Given the description of an element on the screen output the (x, y) to click on. 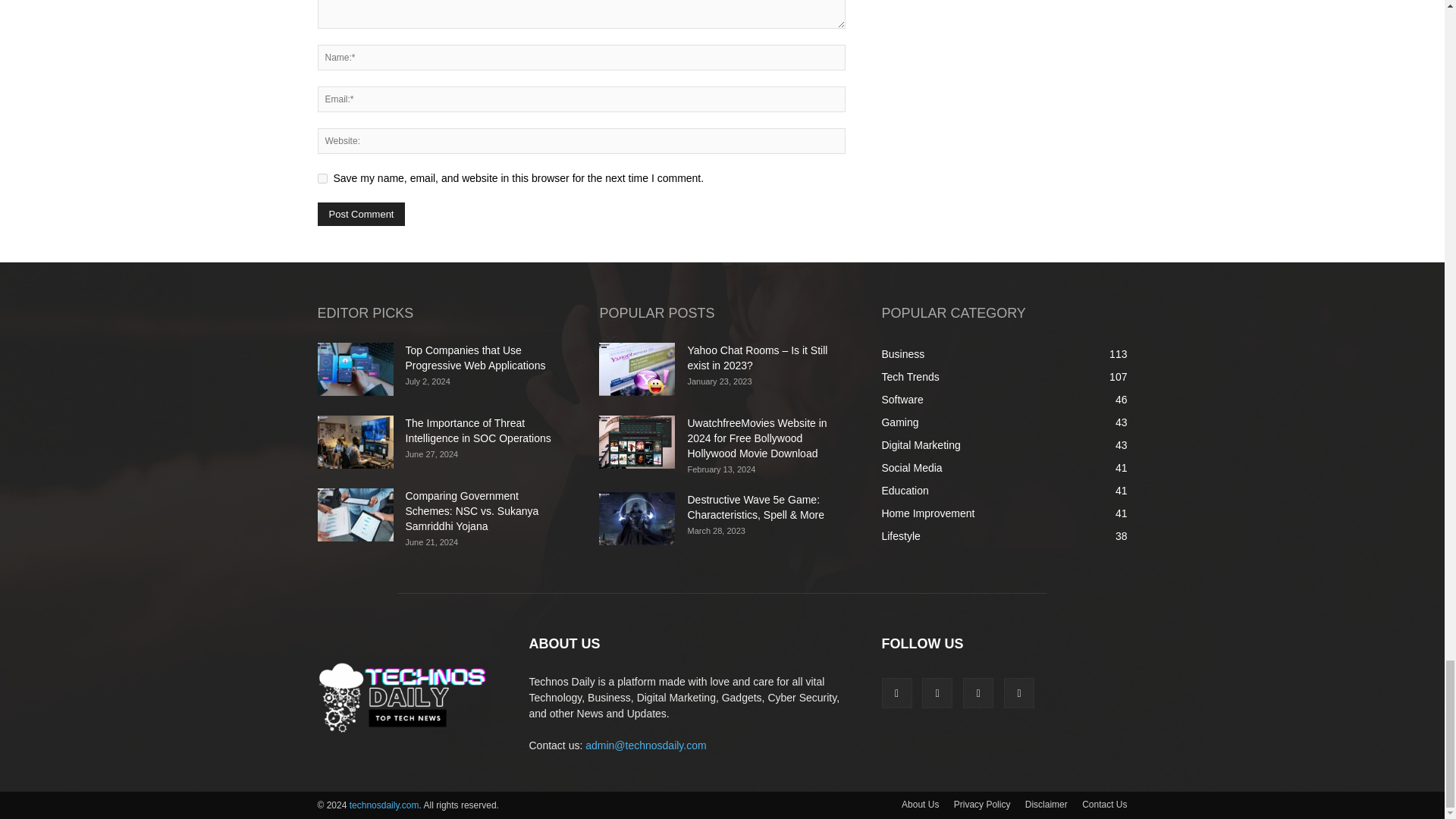
Post Comment (360, 214)
yes (321, 178)
